Given the description of an element on the screen output the (x, y) to click on. 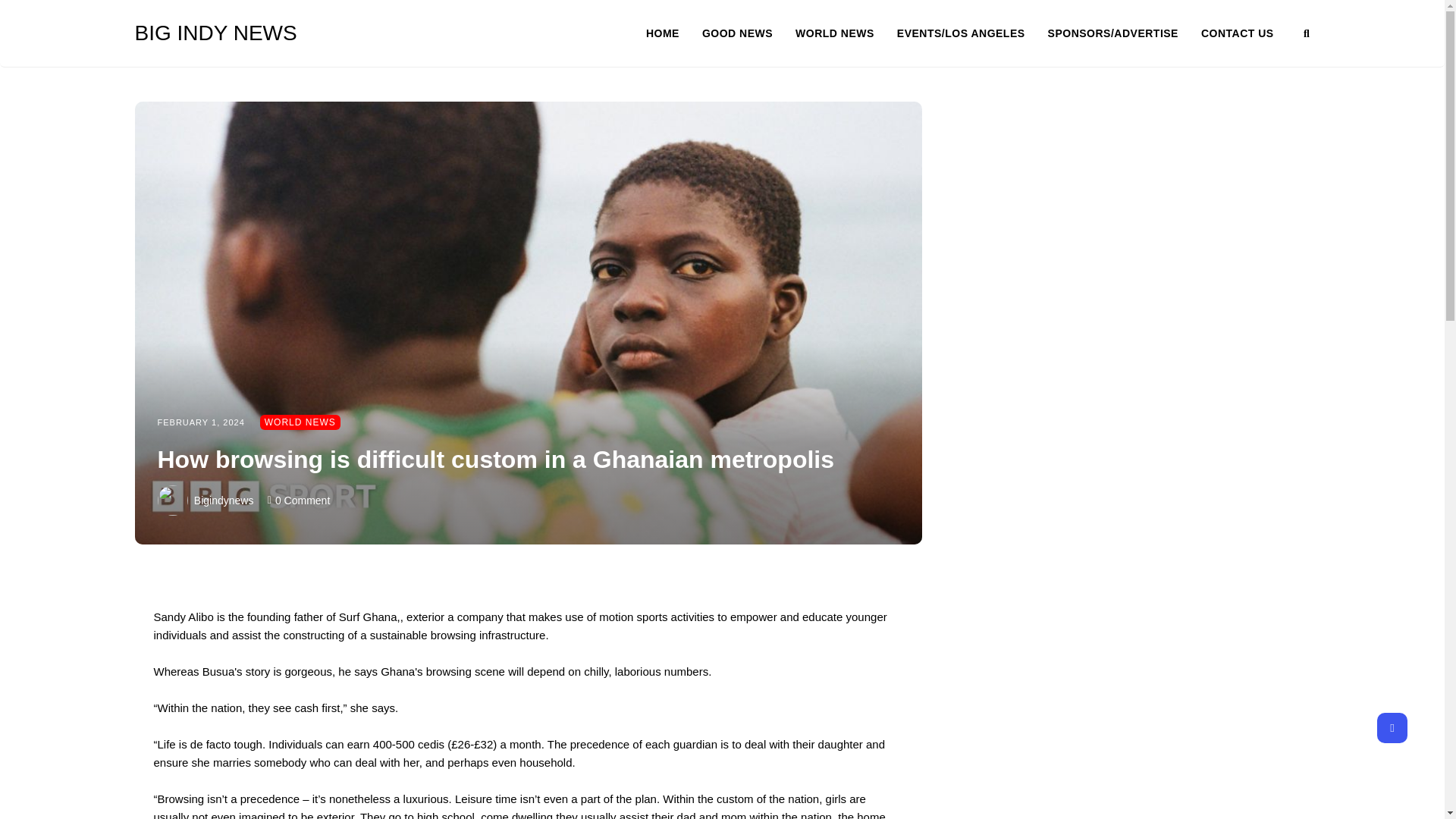
HOME (673, 32)
FEBRUARY 1, 2024 (200, 421)
0 Comment (302, 500)
CONTACT US (1237, 32)
WORLD NEWS (300, 421)
Bigindynews (223, 500)
BIG INDY NEWS (252, 33)
Posts by bigindynews (223, 500)
WORLD NEWS (845, 32)
GOOD NEWS (747, 32)
